Given the description of an element on the screen output the (x, y) to click on. 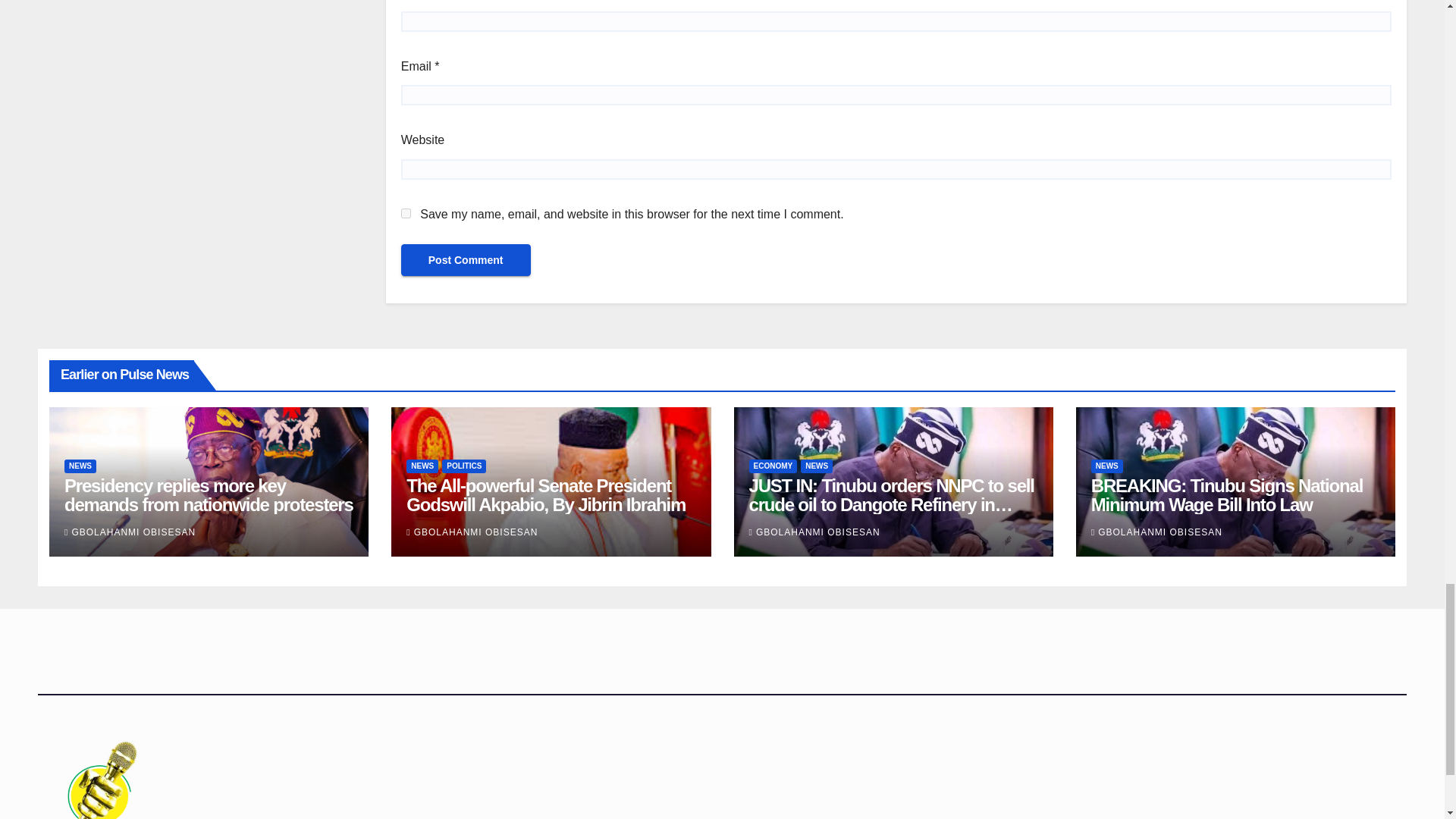
Post Comment (466, 260)
yes (405, 213)
